Given the description of an element on the screen output the (x, y) to click on. 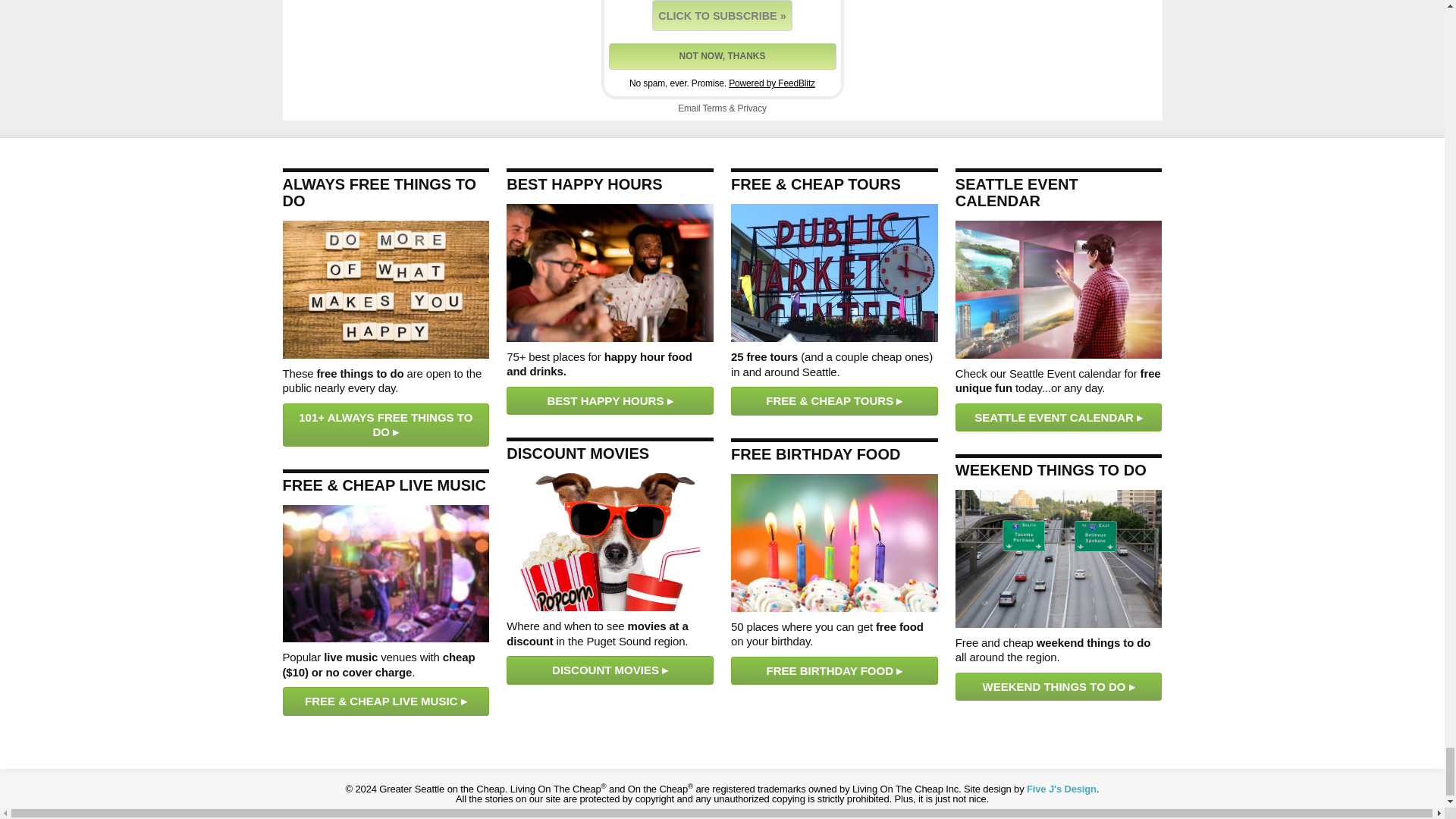
Hide this form for now (721, 55)
click to join (722, 15)
Email subscriptions privacy policy (752, 108)
Email subscriptions terms of service (713, 108)
Not now, thanks (721, 55)
